Given the description of an element on the screen output the (x, y) to click on. 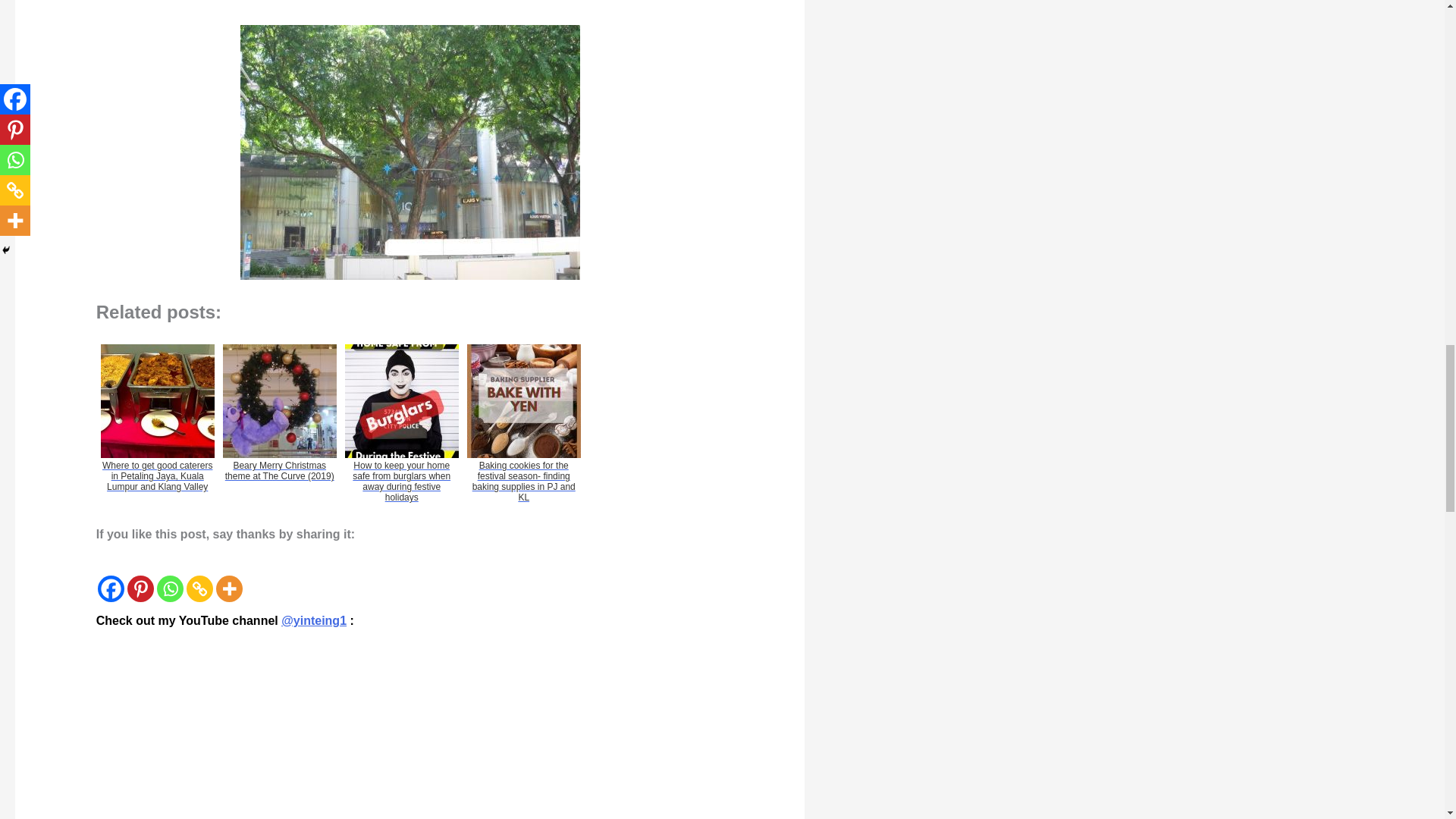
XmasSporeOrchardRoad (409, 152)
